Given the description of an element on the screen output the (x, y) to click on. 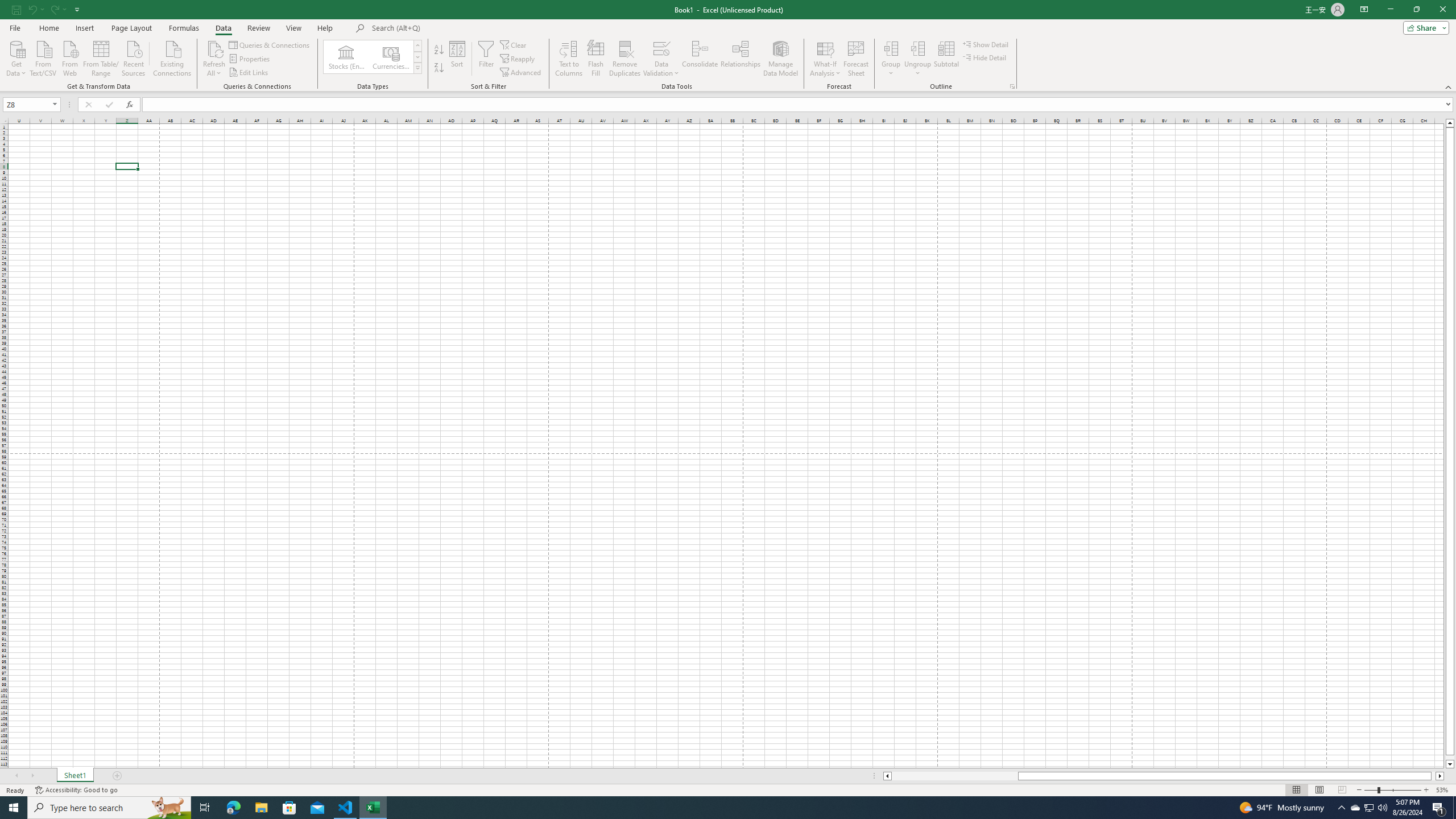
Data Types (417, 67)
Currencies (English) (390, 56)
From Text/CSV (43, 57)
AutomationID: ConvertToLinkedEntity (372, 56)
Subtotal (946, 58)
Show Detail (985, 44)
